Given the description of an element on the screen output the (x, y) to click on. 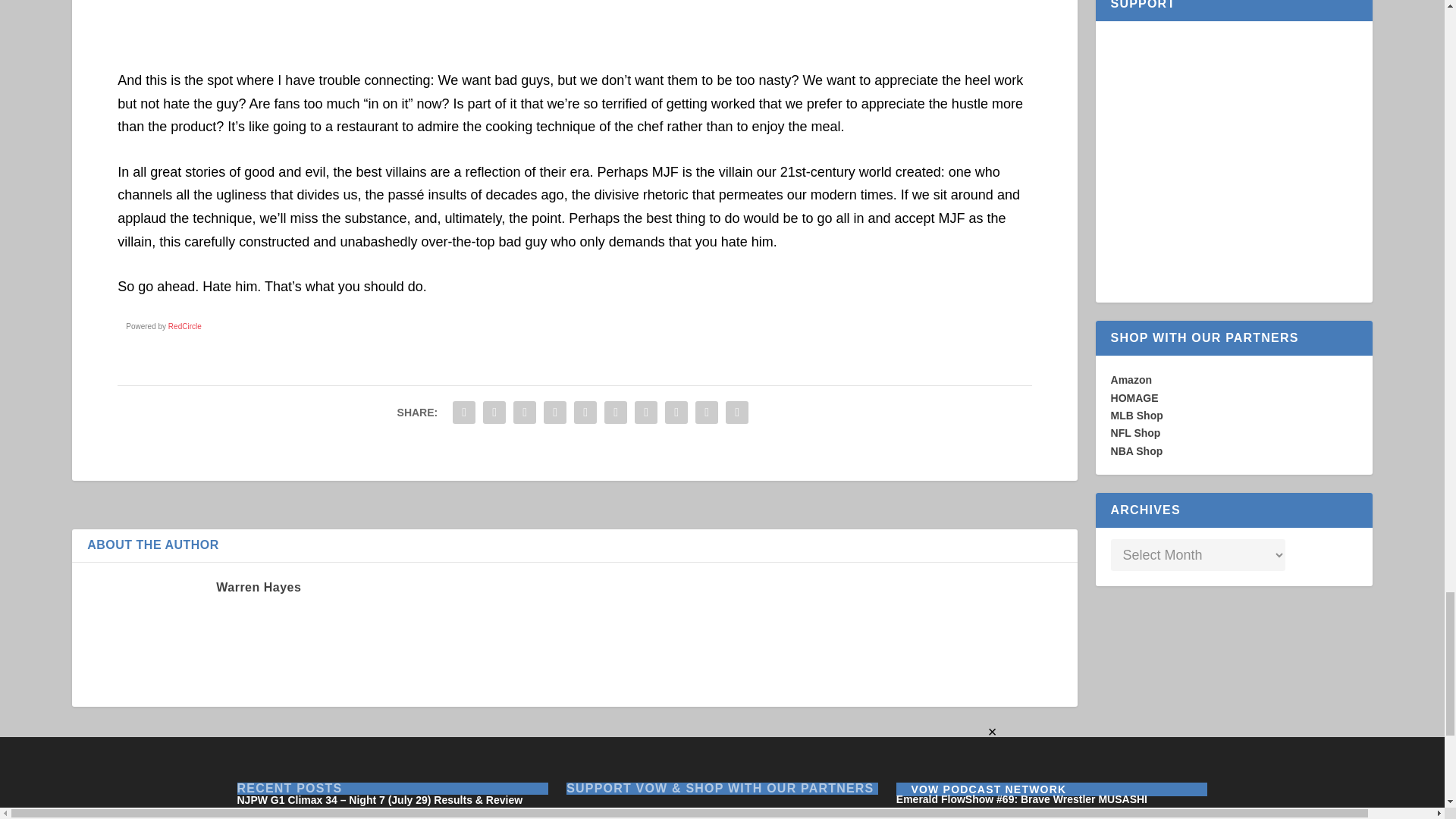
Share "Just Hate MJF. Go Ahead." via Email (706, 412)
Share "Just Hate MJF. Go Ahead." via Twitter (494, 412)
Share "Just Hate MJF. Go Ahead." via Print (737, 412)
Share "Just Hate MJF. Go Ahead." via Stumbleupon (676, 412)
Share "Just Hate MJF. Go Ahead." via Facebook (463, 412)
Share "Just Hate MJF. Go Ahead." via LinkedIn (614, 412)
Share "Just Hate MJF. Go Ahead." via Tumblr (555, 412)
Share "Just Hate MJF. Go Ahead." via Buffer (645, 412)
Share "Just Hate MJF. Go Ahead." via Pinterest (584, 412)
